Given the description of an element on the screen output the (x, y) to click on. 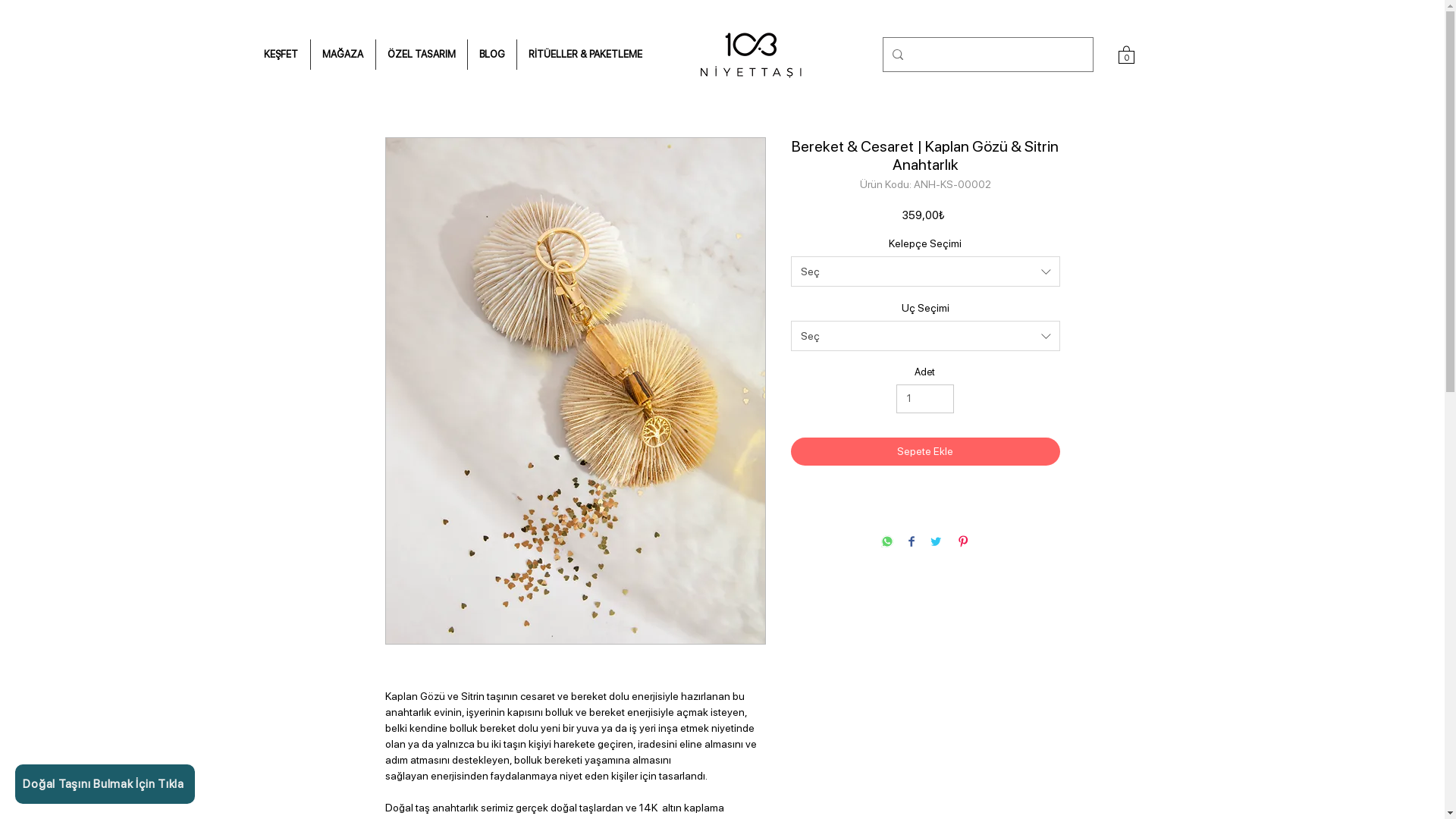
BLOG Element type: text (491, 54)
Sepete Ekle Element type: text (924, 451)
0 Element type: text (1125, 53)
